Given the description of an element on the screen output the (x, y) to click on. 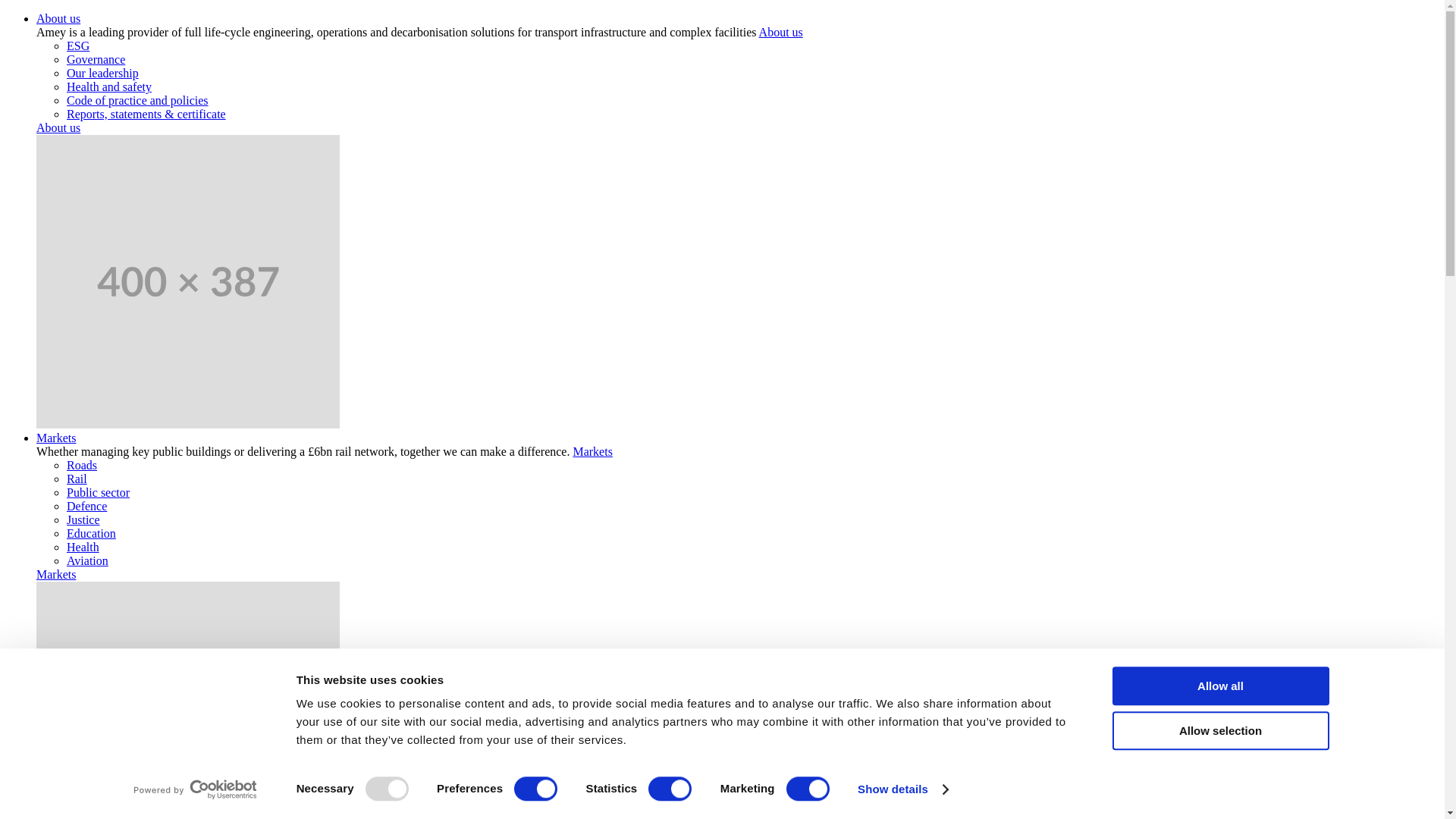
Show details (902, 789)
